Given the description of an element on the screen output the (x, y) to click on. 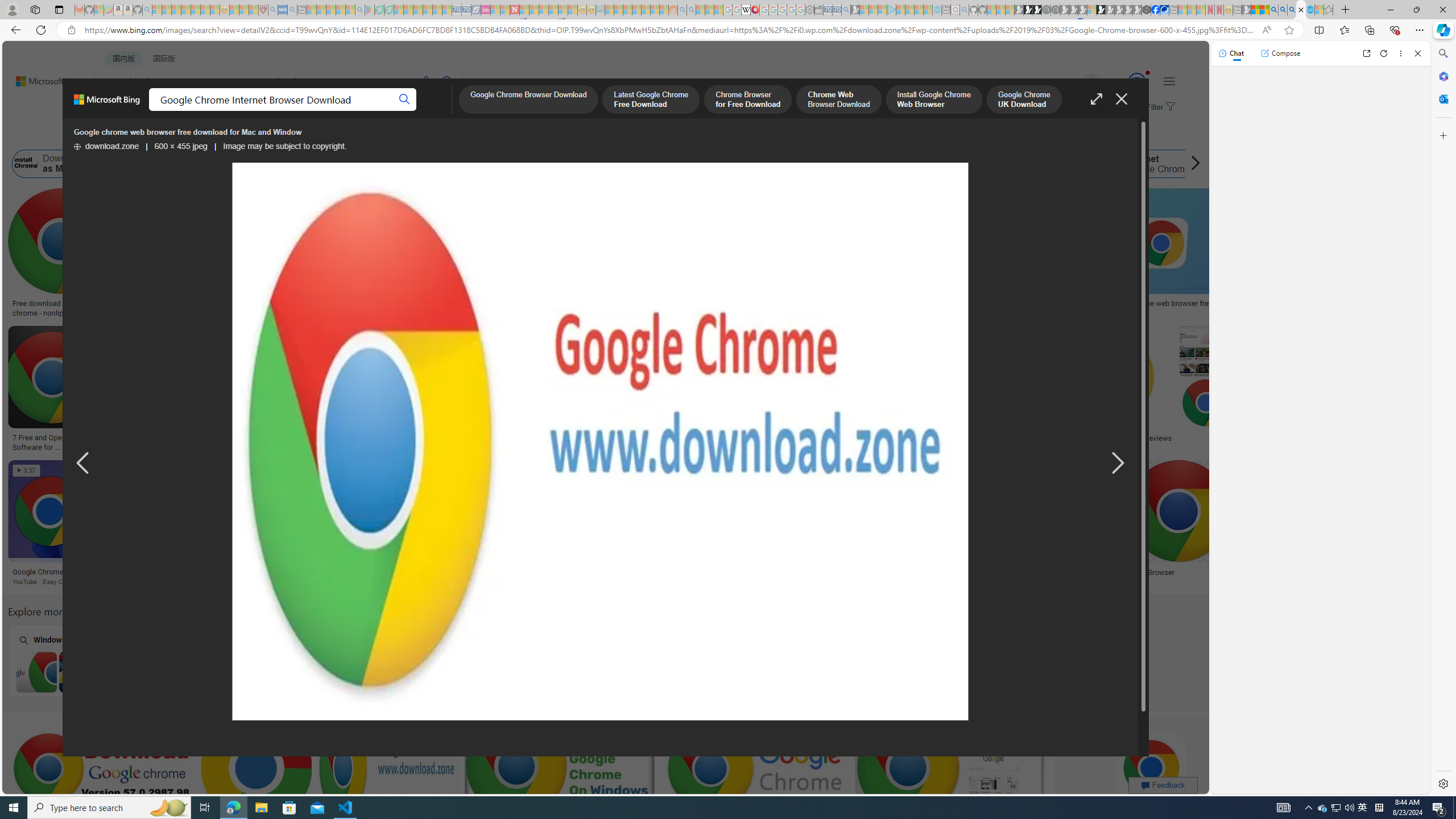
Next image result (1117, 463)
Latest Google Chrome Free Download (911, 163)
MORE (451, 111)
Chrome Browser Download Windows 10 (515, 671)
Descargar Google Chrome Para Pc 2021 Windows 7810 (196, 437)
